Given the description of an element on the screen output the (x, y) to click on. 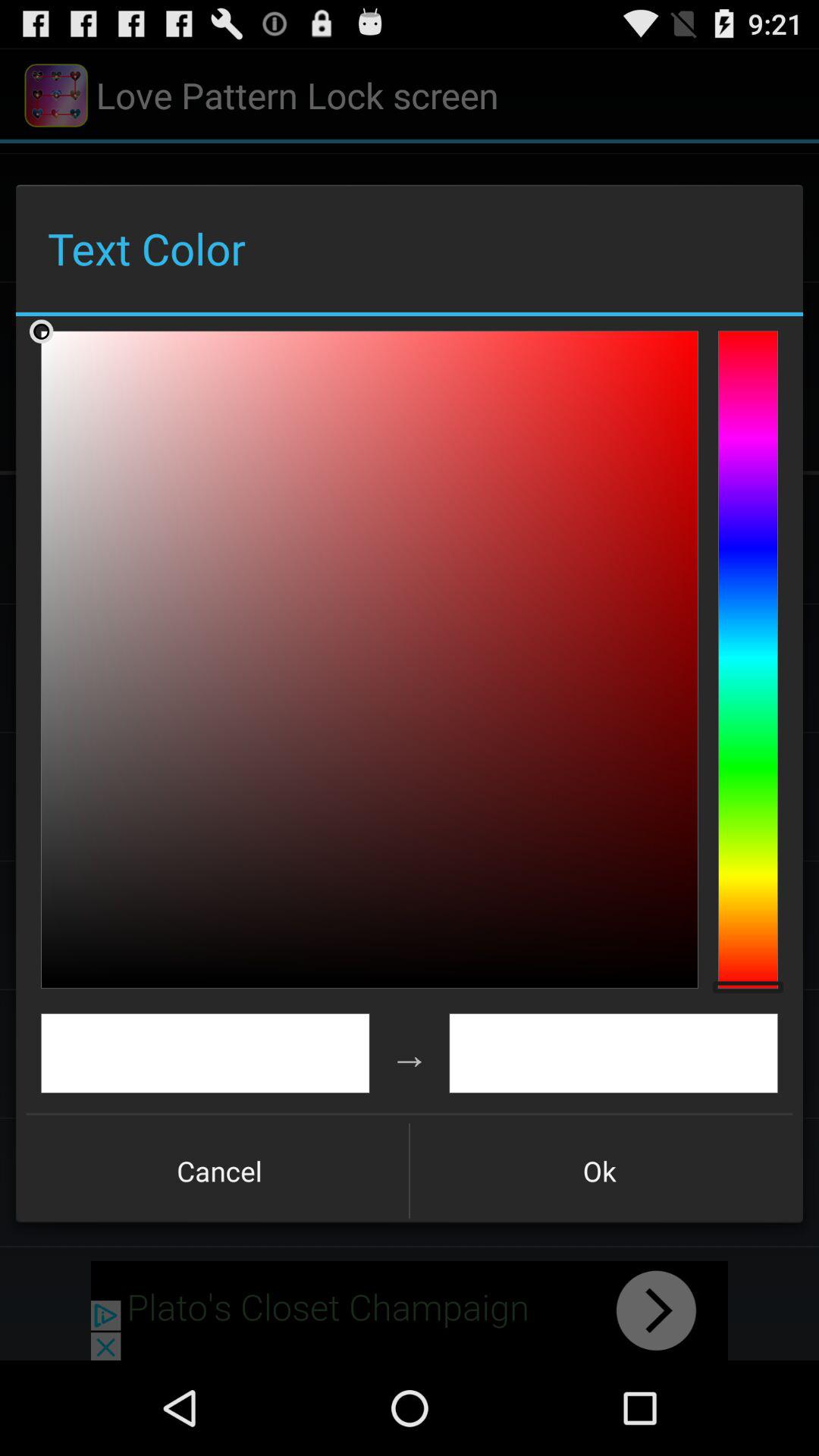
open button next to ok icon (219, 1170)
